Given the description of an element on the screen output the (x, y) to click on. 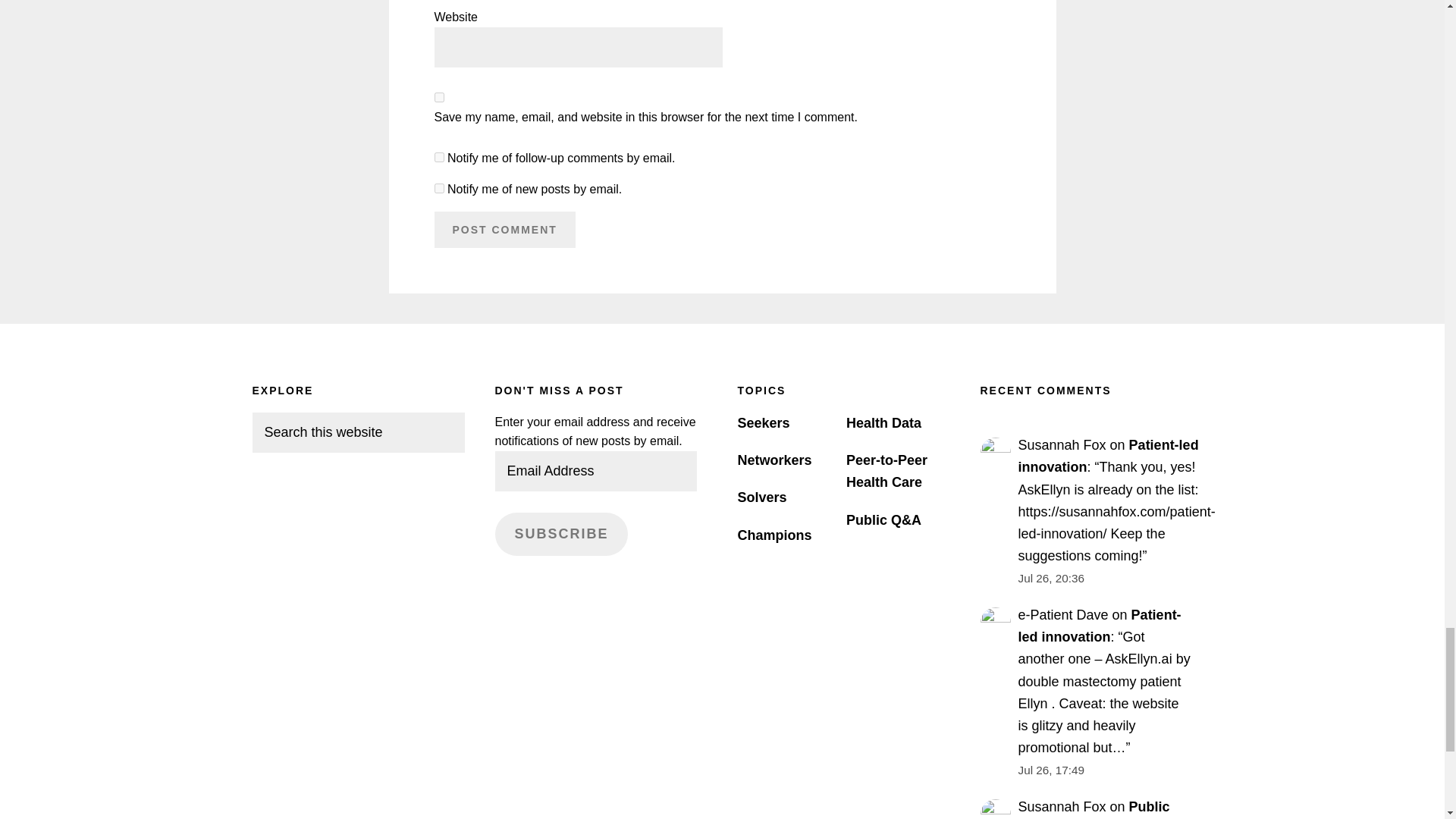
yes (438, 97)
Post Comment (504, 229)
subscribe (438, 188)
subscribe (438, 157)
